Given the description of an element on the screen output the (x, y) to click on. 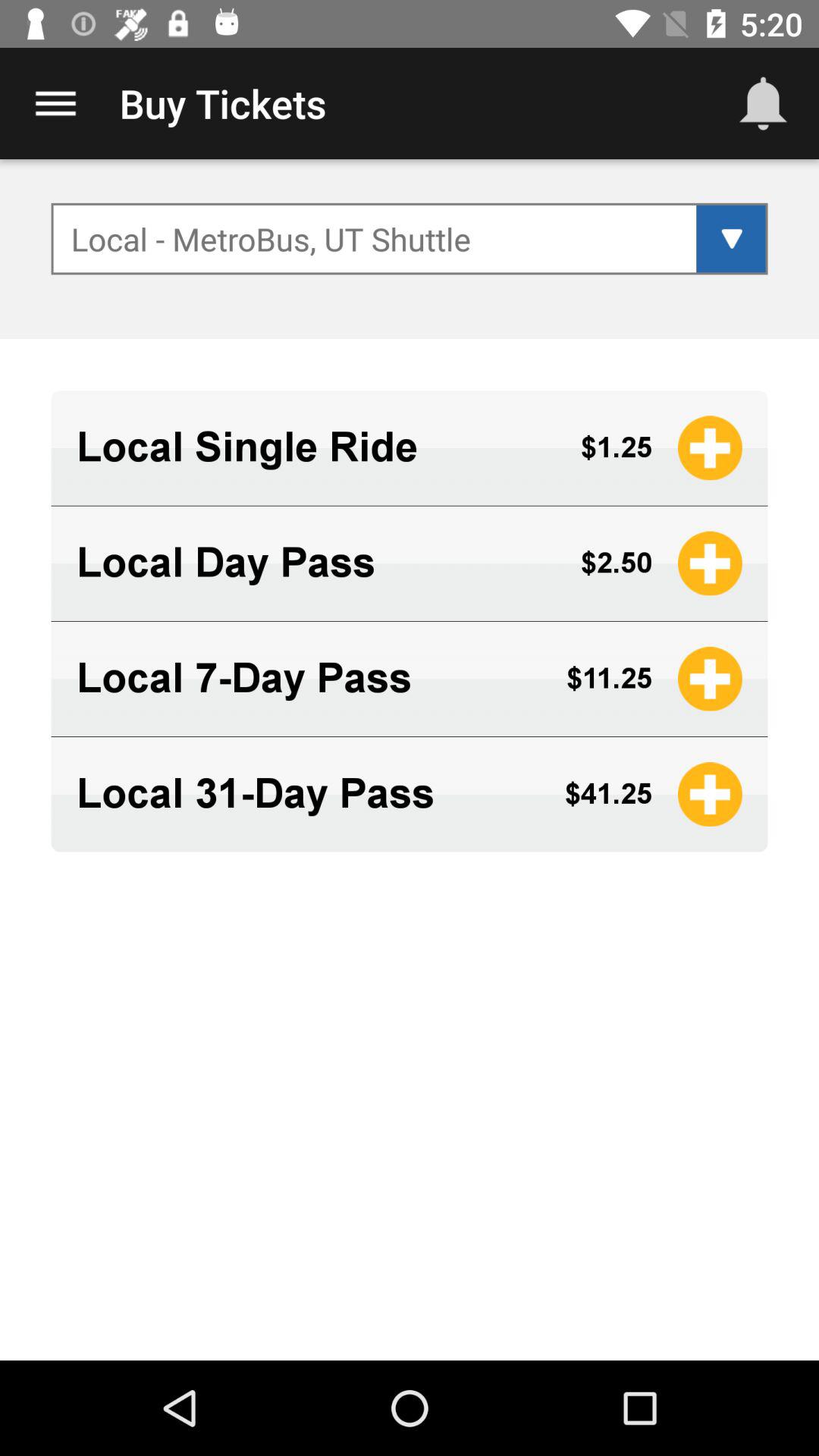
select the logo beside 1125 (710, 678)
click on icon next to 250 text (710, 563)
click yellow icon right to 4125  (710, 793)
the bell icon at top right corner (763, 103)
